Given the description of an element on the screen output the (x, y) to click on. 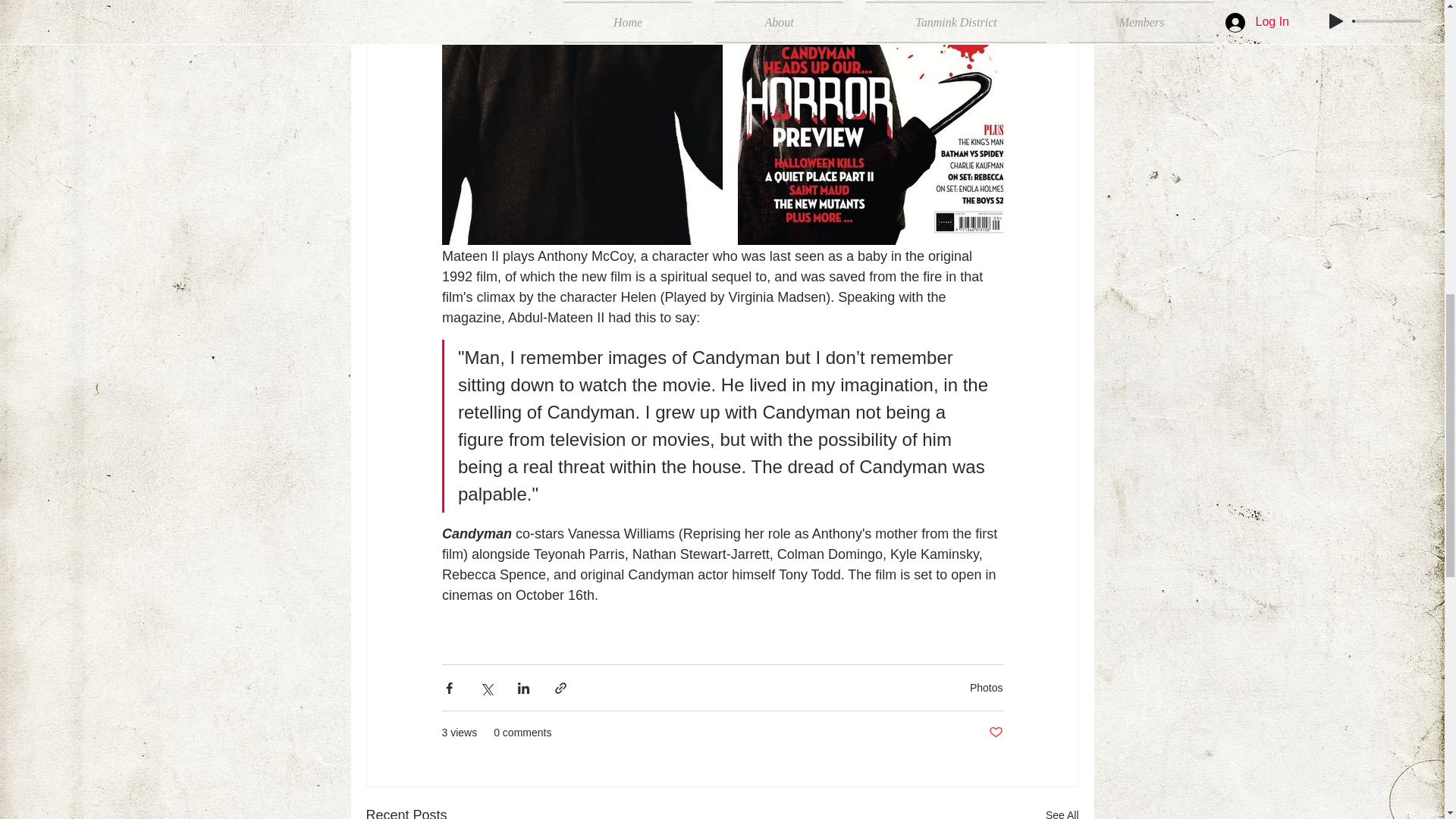
See All (1061, 811)
Post not marked as liked (995, 732)
Photos (986, 687)
